Given the description of an element on the screen output the (x, y) to click on. 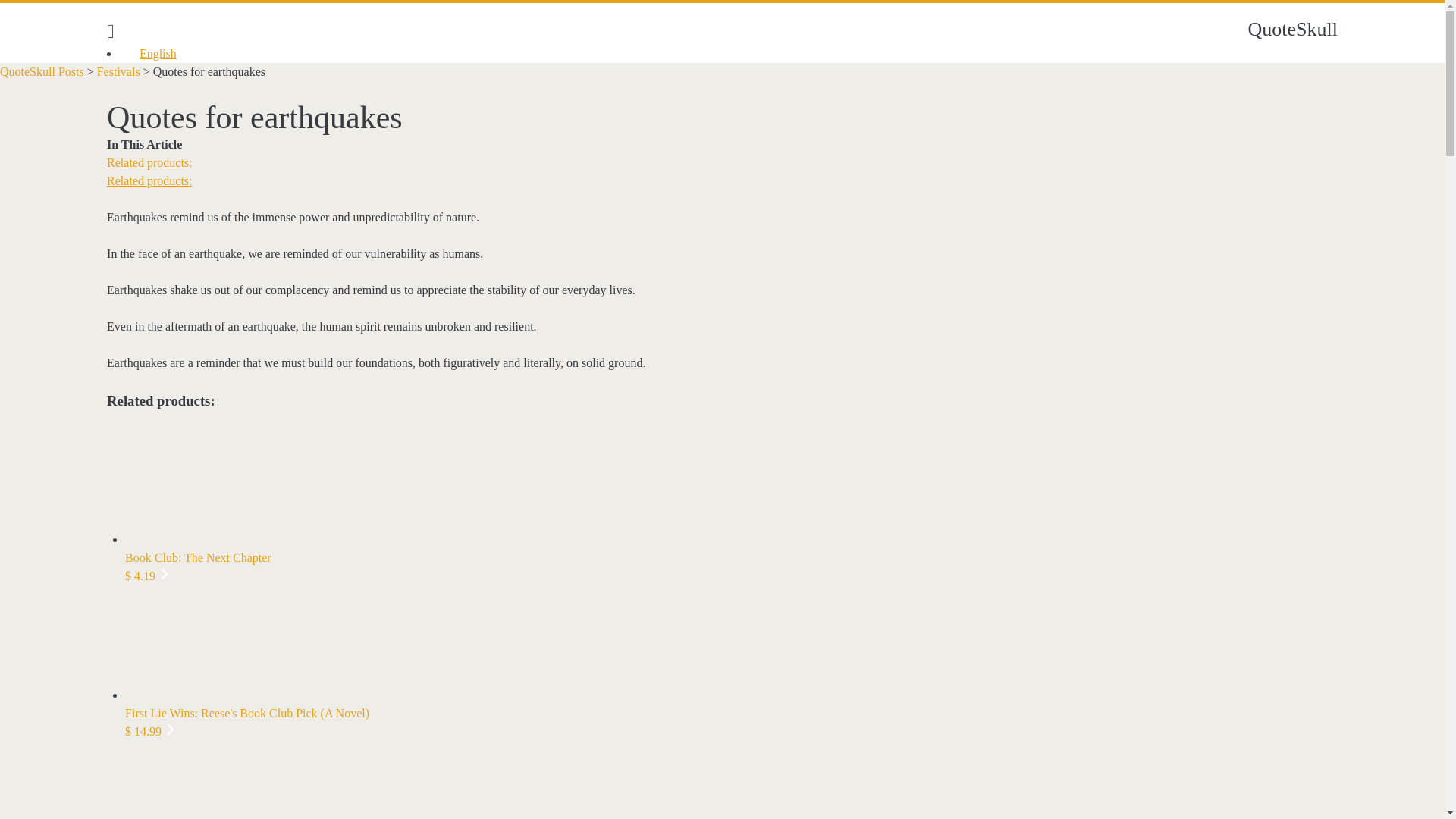
Related products: (149, 180)
Festivals (118, 71)
Related products: (149, 162)
QuoteSkull (1291, 29)
QuoteSkull Posts (42, 71)
QuoteSkull Posts (42, 71)
Swan Song (722, 780)
English (149, 52)
Quotes for earthquakes (208, 71)
